Given the description of an element on the screen output the (x, y) to click on. 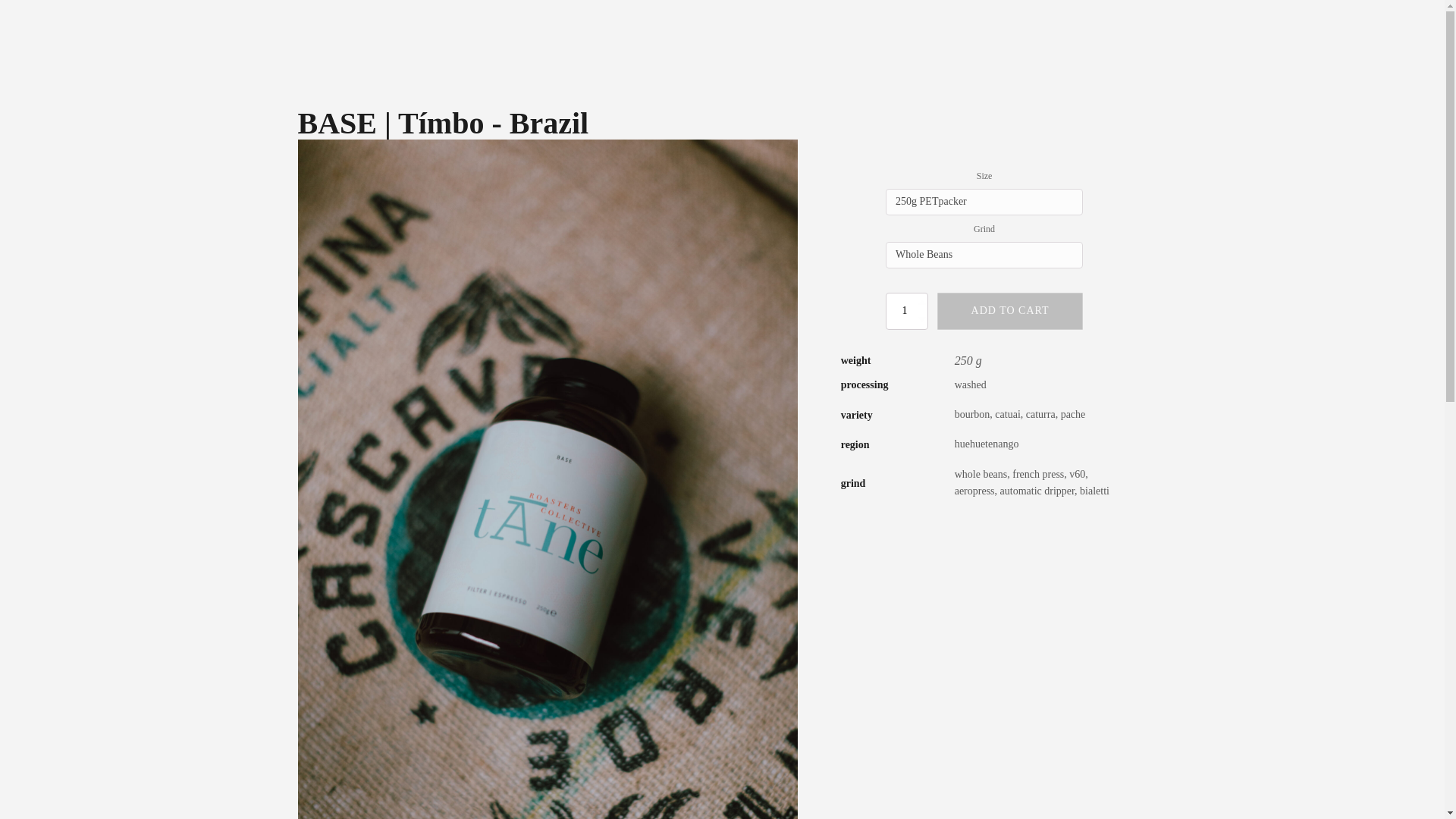
1 (906, 311)
Qty (906, 311)
ADD TO CART (1010, 311)
